Given the description of an element on the screen output the (x, y) to click on. 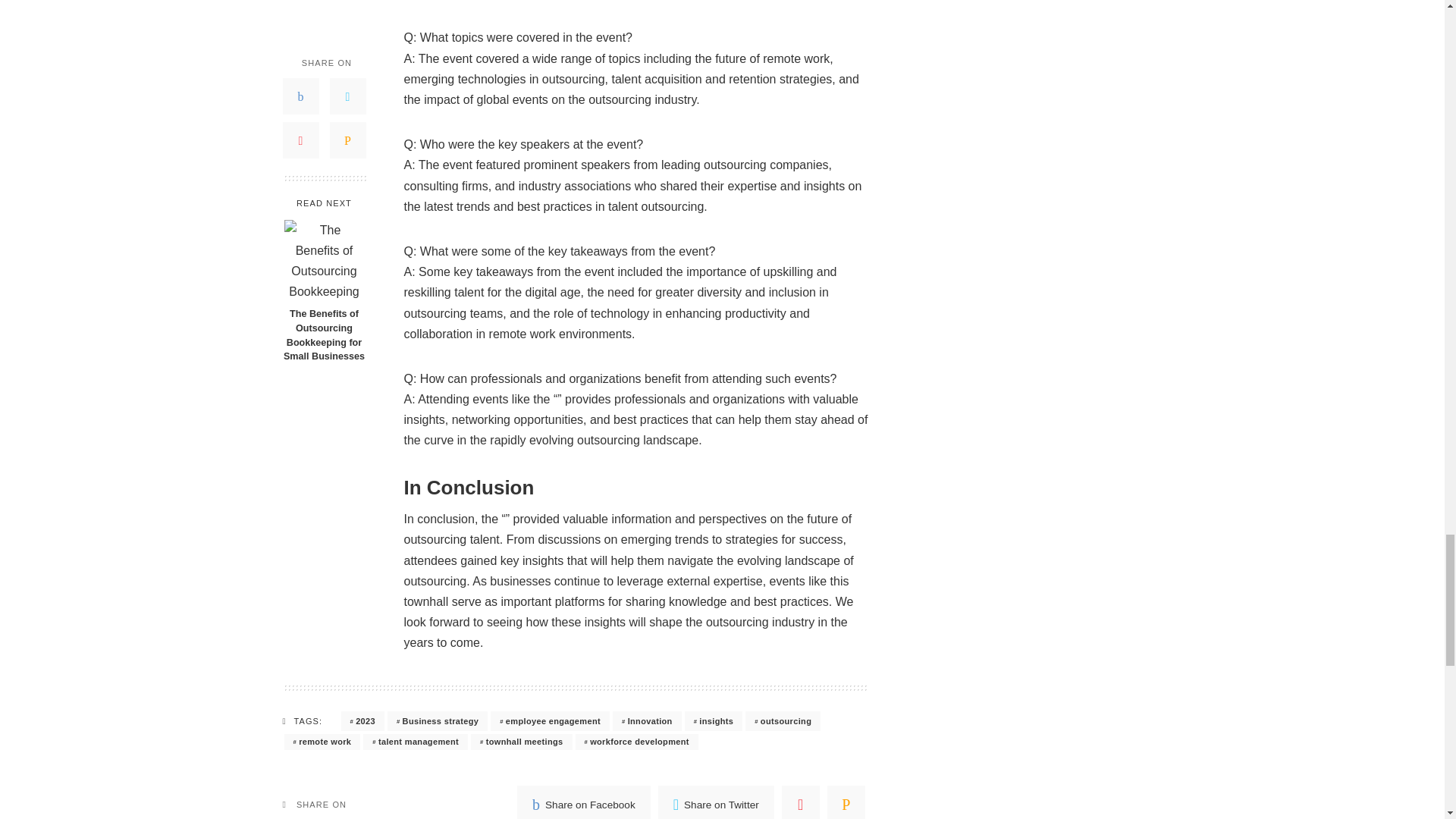
2023 (362, 721)
insights (713, 721)
outsourcing (783, 721)
2023 (362, 721)
Business strategy (437, 721)
workforce development (636, 741)
remote work (321, 741)
Innovation (646, 721)
employee engagement (550, 721)
employee engagement (550, 721)
townhall meetings (521, 741)
talent management (414, 741)
Business strategy (437, 721)
